Given the description of an element on the screen output the (x, y) to click on. 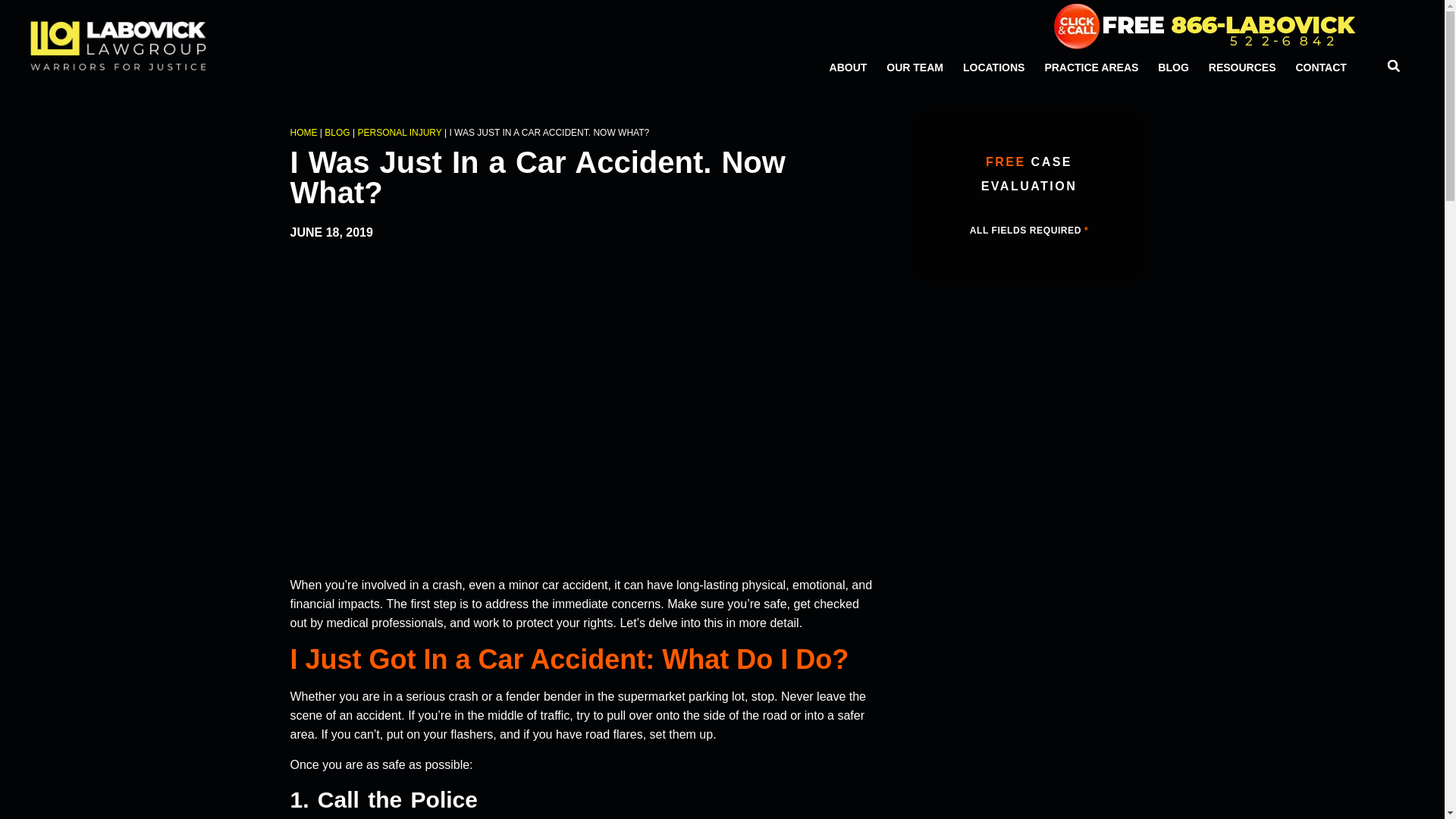
OUR TEAM (914, 67)
ABOUT (848, 67)
LOCATIONS (993, 67)
